Given the description of an element on the screen output the (x, y) to click on. 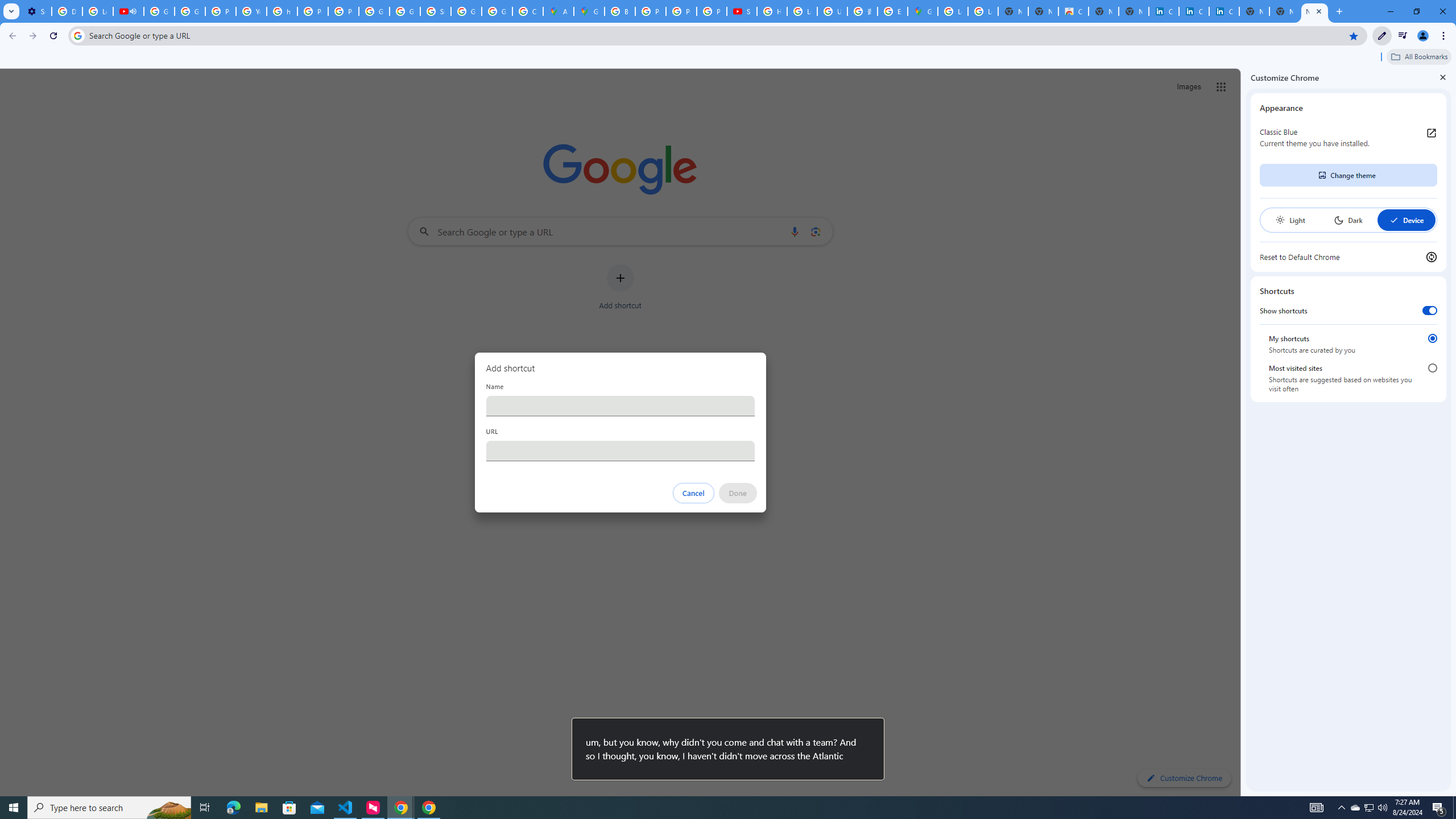
Google Account Help (158, 11)
URL (620, 450)
Sign in - Google Accounts (434, 11)
Privacy Help Center - Policies Help (220, 11)
Name (620, 405)
Classic Blue Current theme you have installed. (1347, 137)
Side Panel Resize Handle (1242, 431)
Change theme (1348, 174)
